Given the description of an element on the screen output the (x, y) to click on. 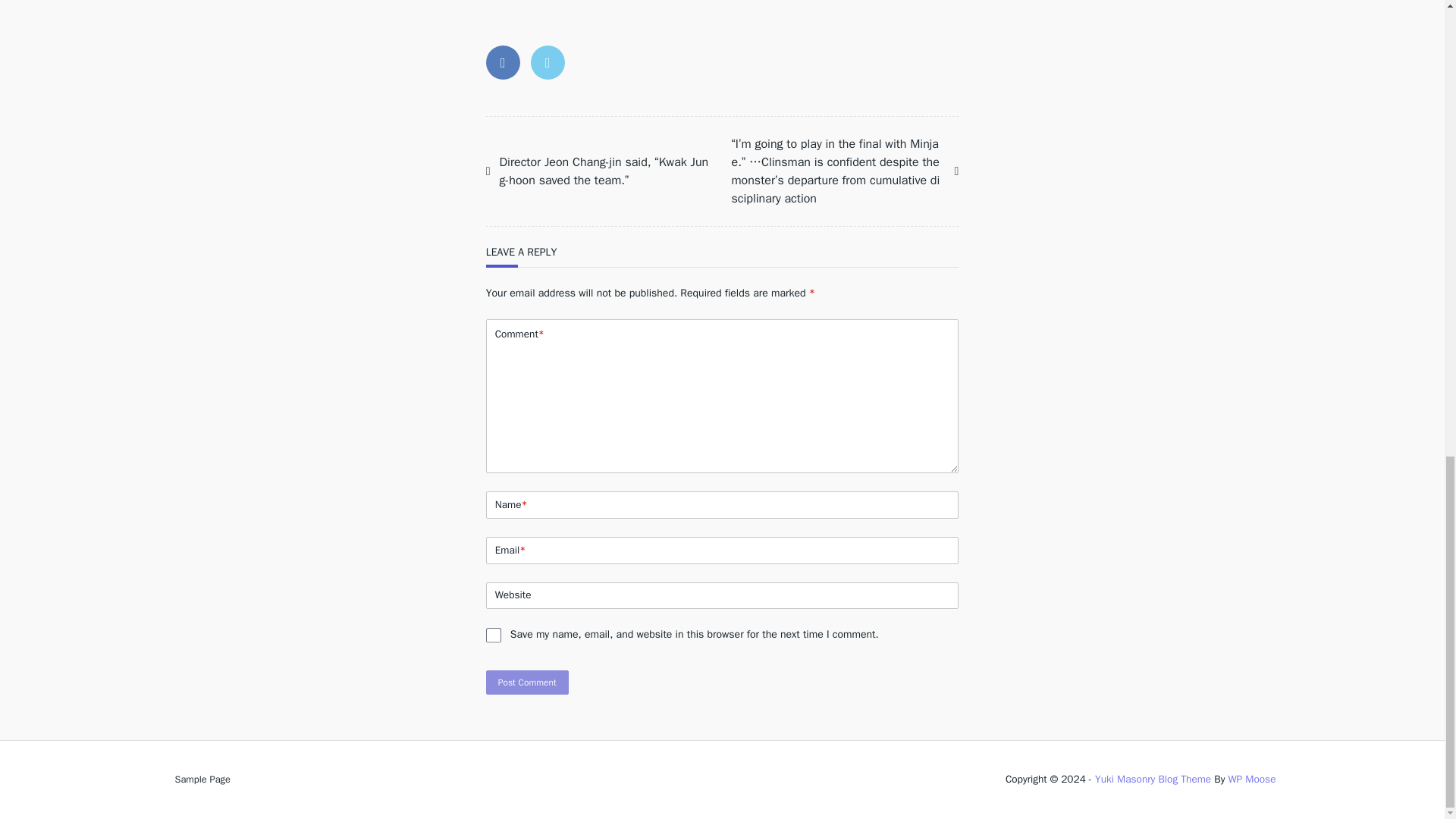
WP Moose (1251, 779)
Post Comment (527, 682)
Yuki Masonry Blog Theme (1152, 779)
Post Comment (527, 682)
Sample Page (201, 778)
yes (493, 635)
